Given the description of an element on the screen output the (x, y) to click on. 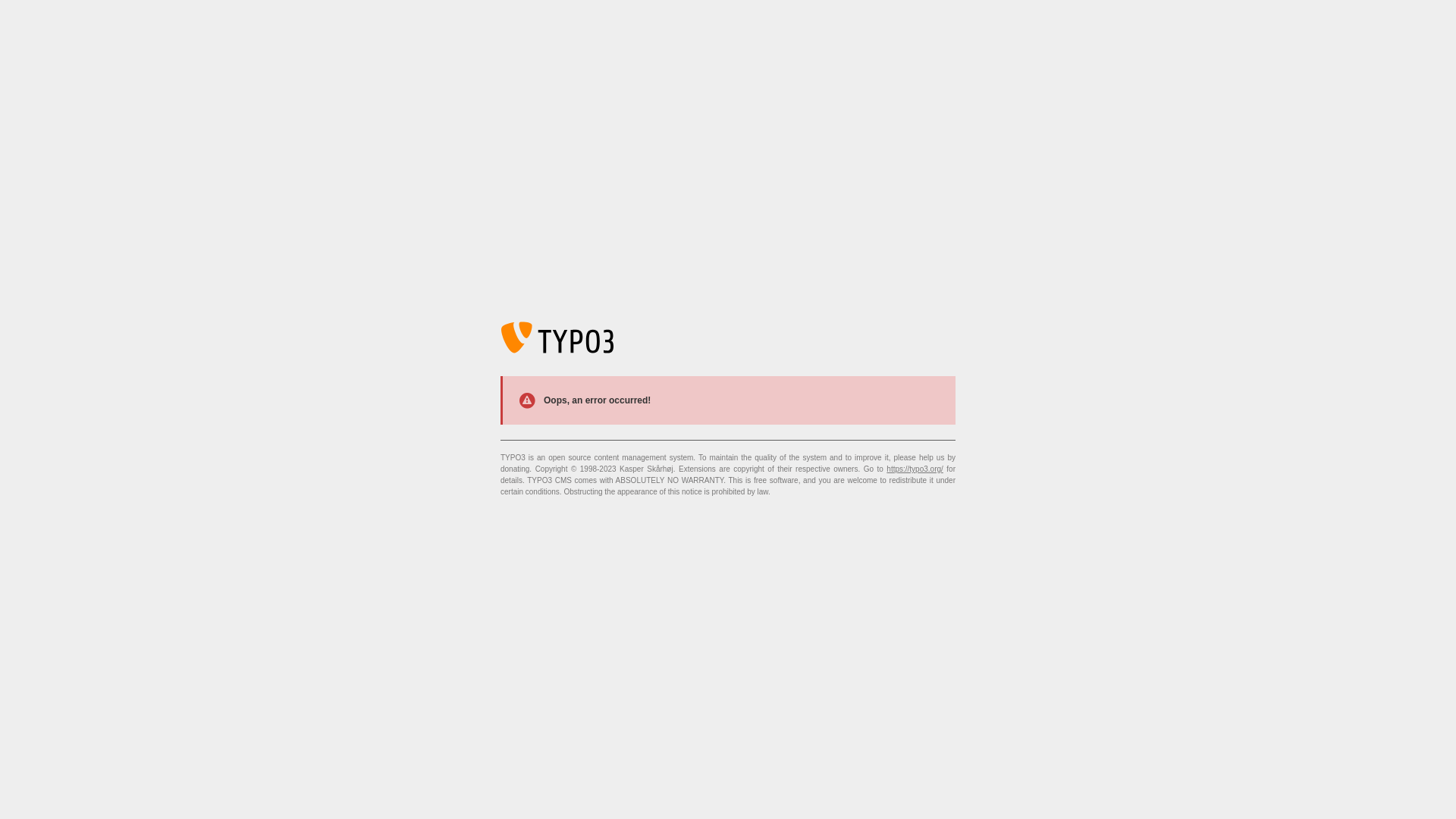
https://typo3.org/ Element type: text (914, 468)
